Given the description of an element on the screen output the (x, y) to click on. 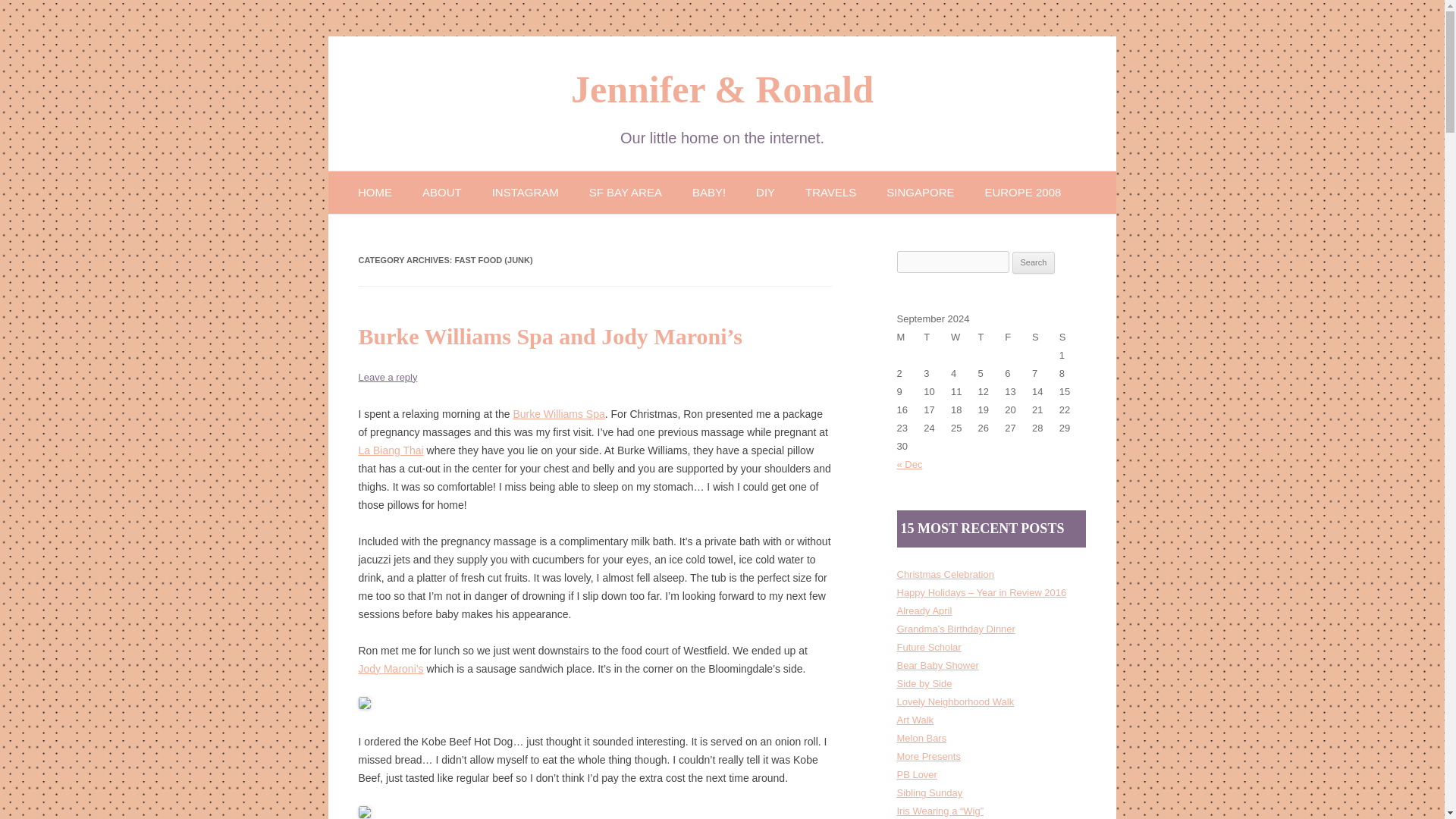
SINGAPORE (919, 191)
Sunday (1072, 337)
Leave a reply (387, 377)
SF BAY AREA (625, 191)
ABOUT (441, 191)
La Biang Thai (390, 450)
TRAVELS (830, 191)
Tuesday (936, 337)
Monday (909, 337)
Search (1033, 262)
